Given the description of an element on the screen output the (x, y) to click on. 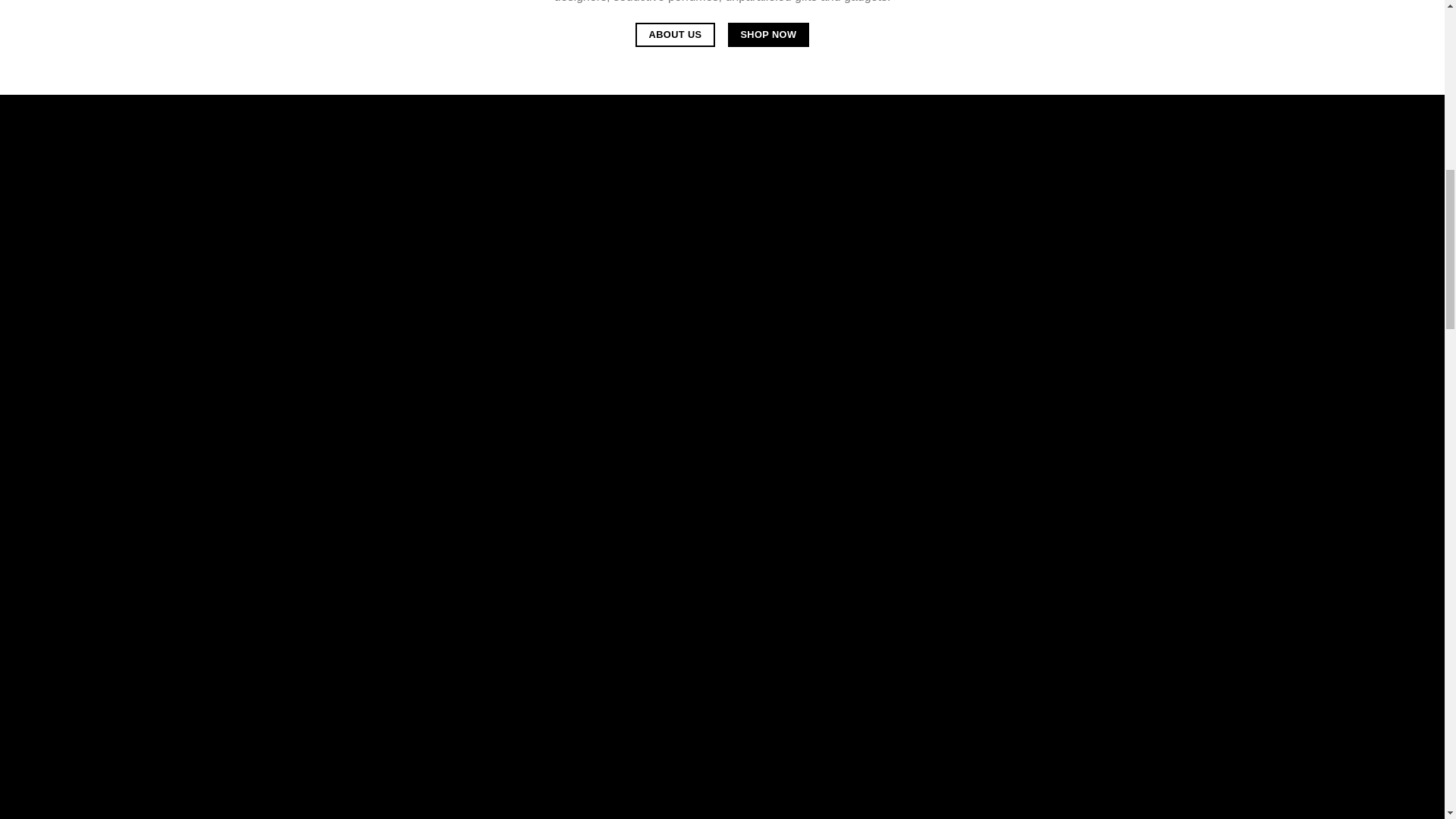
ABOUT US (674, 34)
SHOP NOW (768, 34)
